Given the description of an element on the screen output the (x, y) to click on. 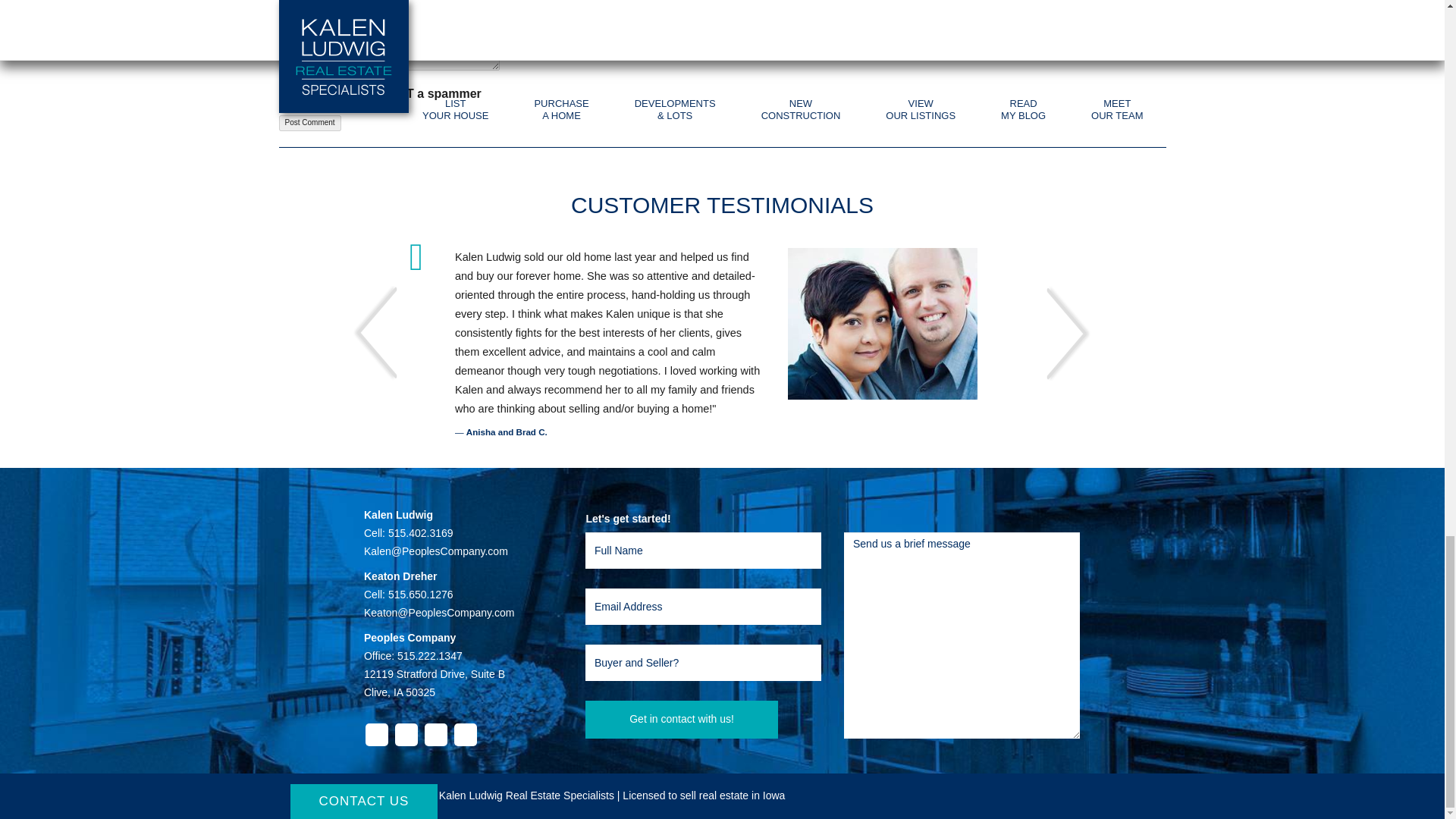
Post Comment (309, 122)
on (283, 92)
Post Comment (309, 122)
